Given the description of an element on the screen output the (x, y) to click on. 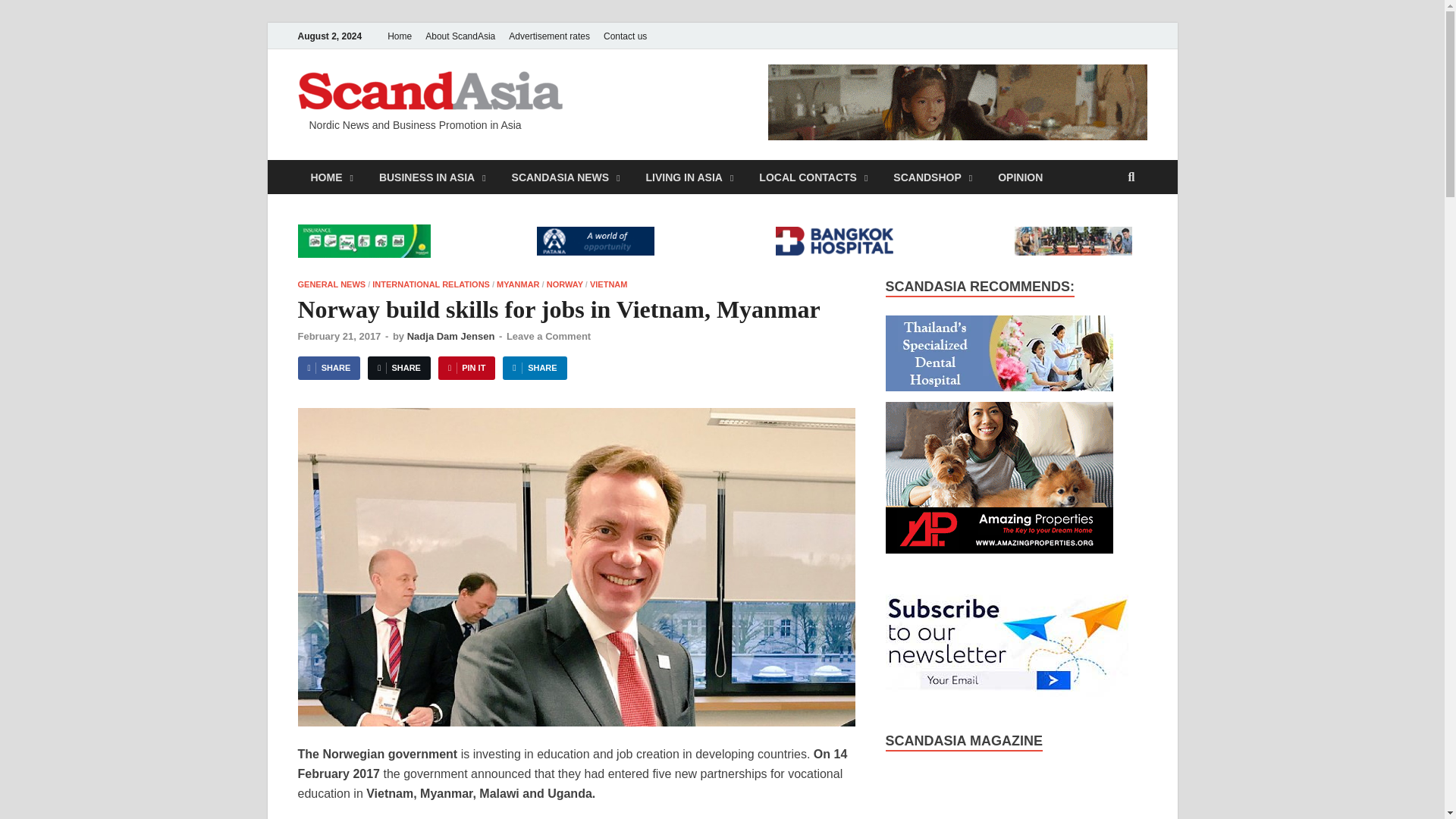
BUSINESS IN ASIA (432, 176)
Advertisement rates (549, 35)
Home (399, 35)
Contact us (624, 35)
HOME (331, 176)
About ScandAsia (460, 35)
